Given the description of an element on the screen output the (x, y) to click on. 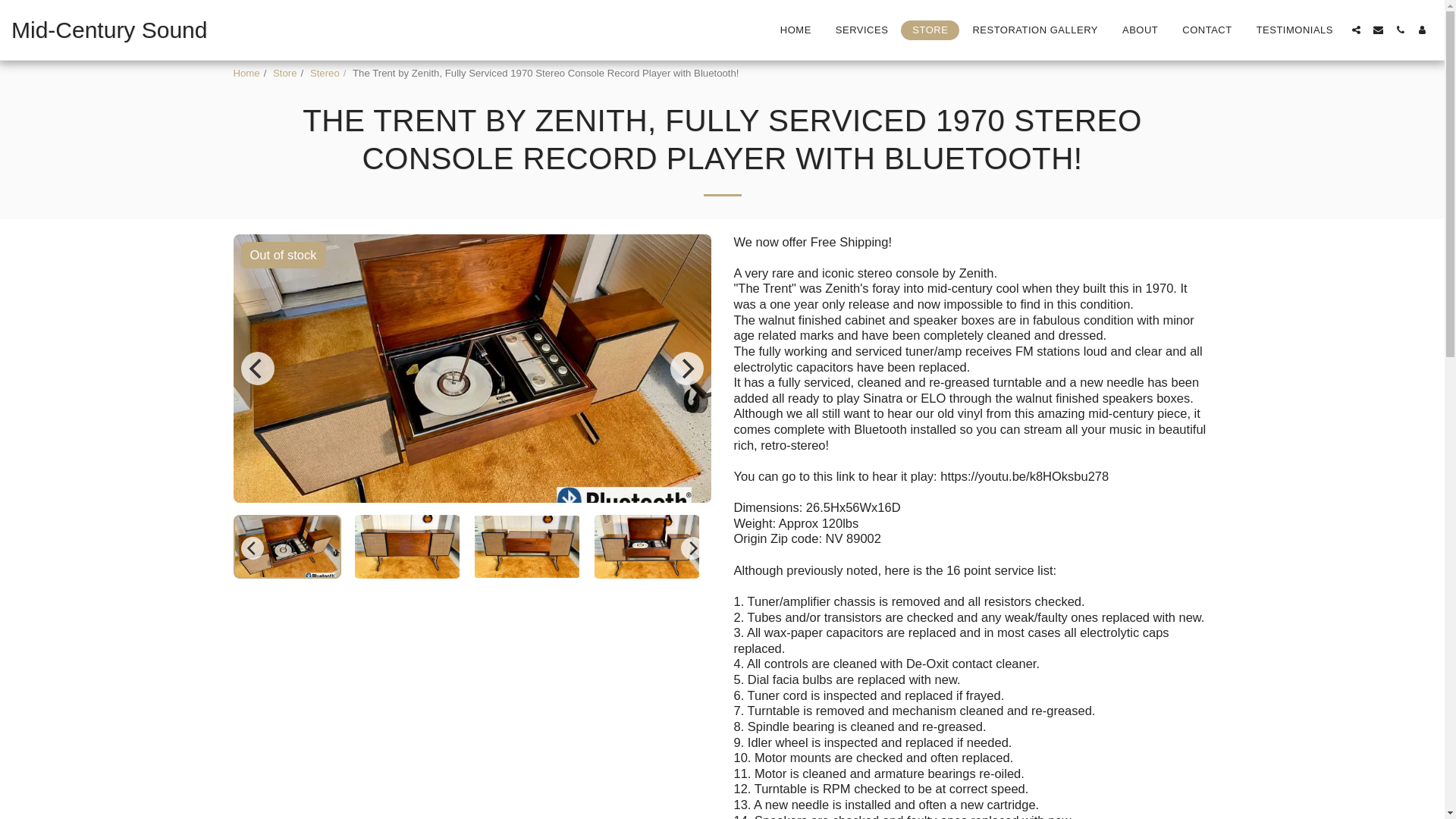
STORE (930, 29)
Store (285, 72)
Stereo (324, 72)
Mid-Century Sound (108, 30)
Home (246, 72)
ABOUT (1139, 29)
RESTORATION GALLERY (1034, 29)
TESTIMONIALS (1293, 29)
HOME (795, 29)
CONTACT (1206, 29)
SERVICES (861, 29)
